Given the description of an element on the screen output the (x, y) to click on. 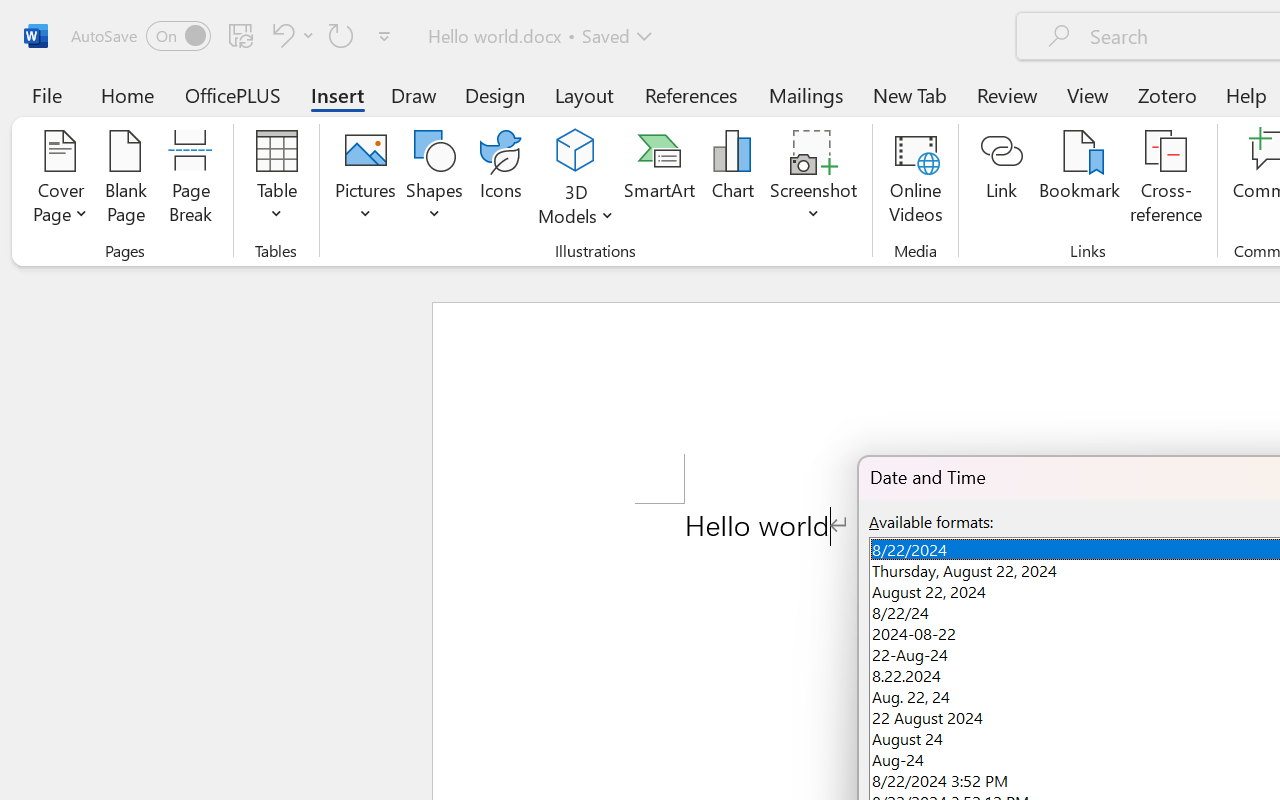
Delete (762, 94)
Next (1144, 115)
Show Comments (921, 94)
Compare (1002, 114)
Mark All as Read (589, 114)
Show Changes (639, 114)
